Given the description of an element on the screen output the (x, y) to click on. 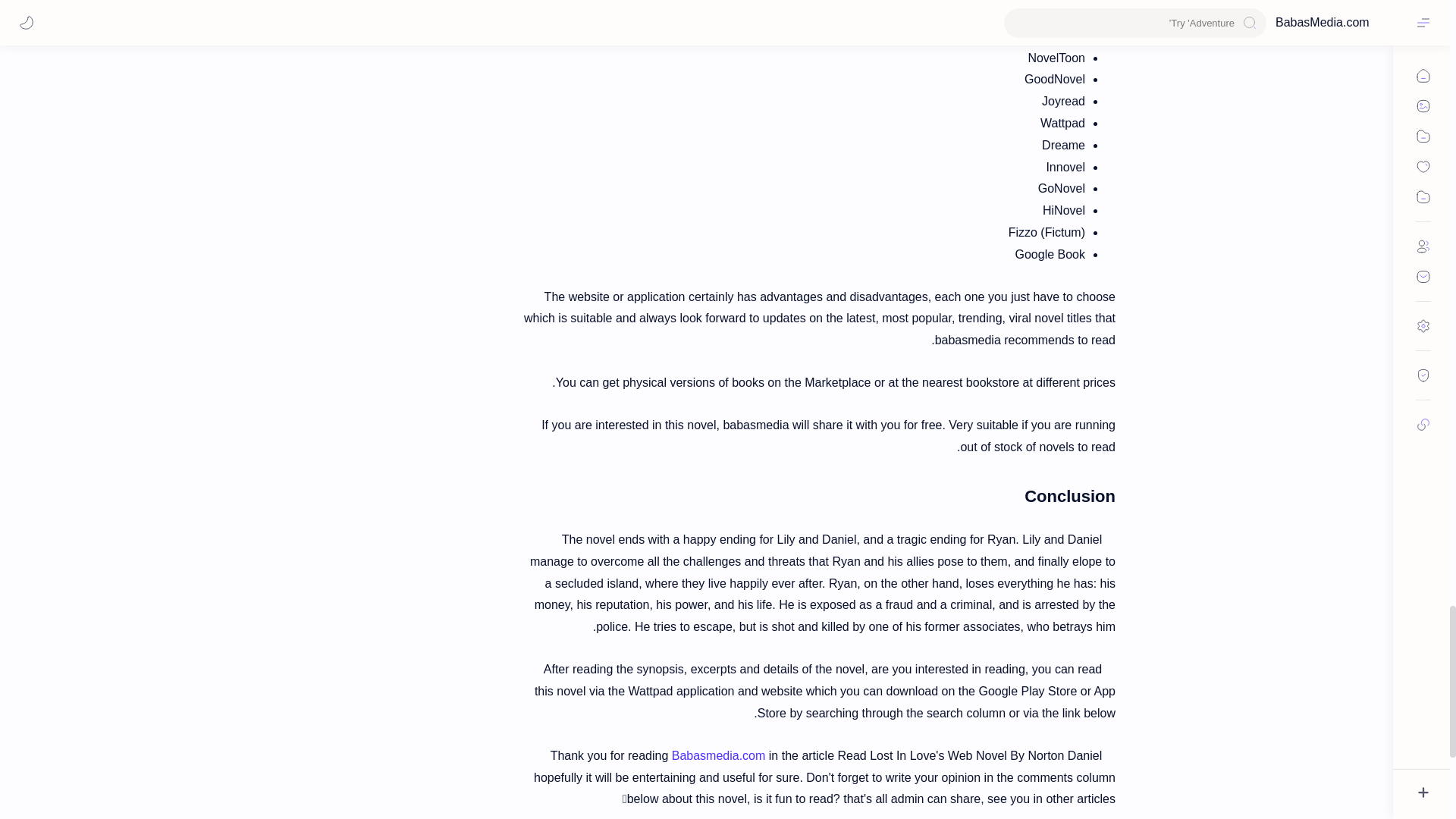
Babasmedia.com (718, 755)
